Given the description of an element on the screen output the (x, y) to click on. 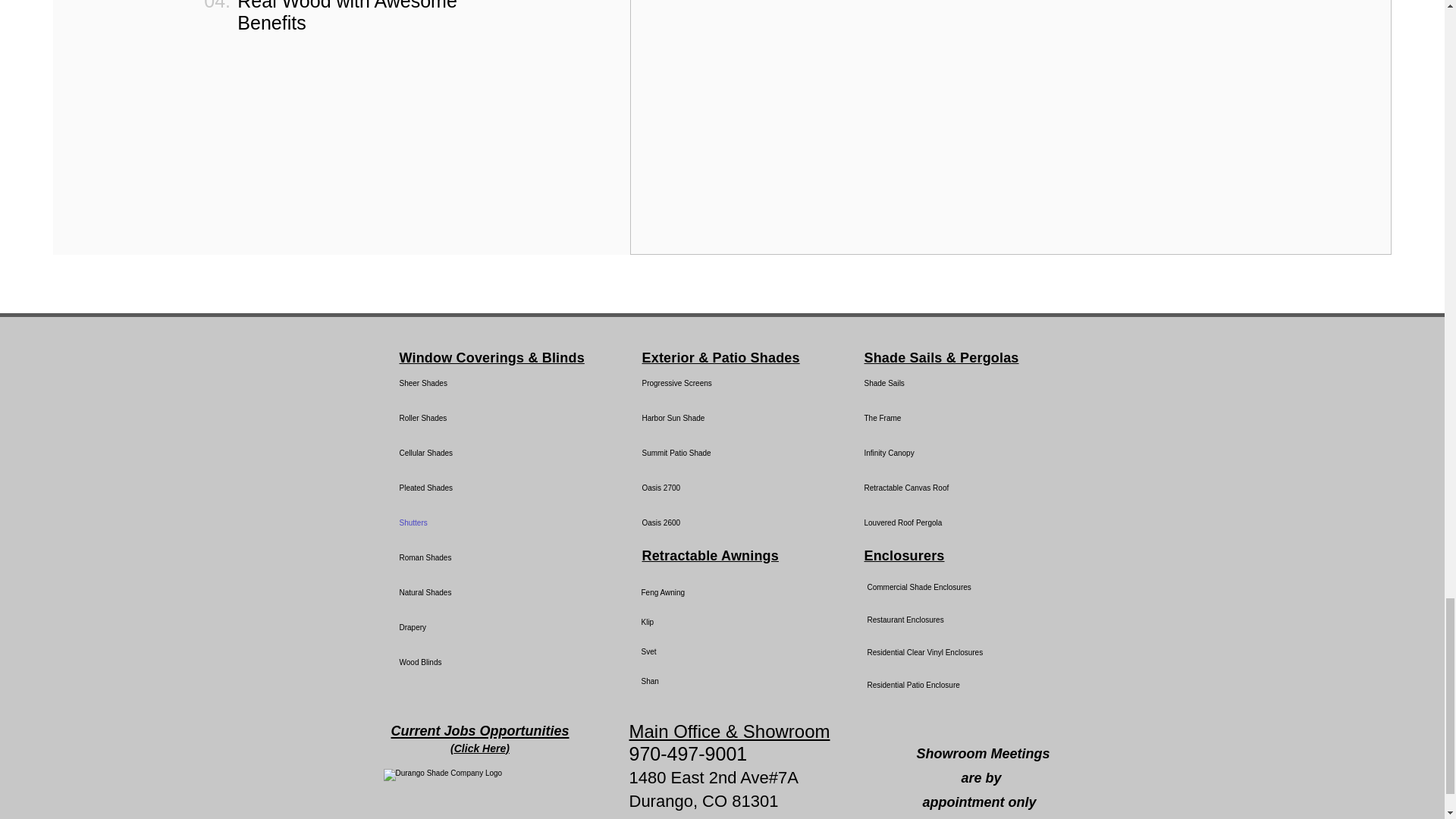
Natural Shades (490, 592)
Shan (695, 681)
Roller Shades (490, 418)
Restaurant Enclosures (920, 619)
Feng Awning (695, 592)
Wood Blinds (490, 662)
Infinity Canopy (917, 452)
Klip (695, 622)
Sheer Shades (490, 383)
Louvered Roof Pergola (917, 523)
